Given the description of an element on the screen output the (x, y) to click on. 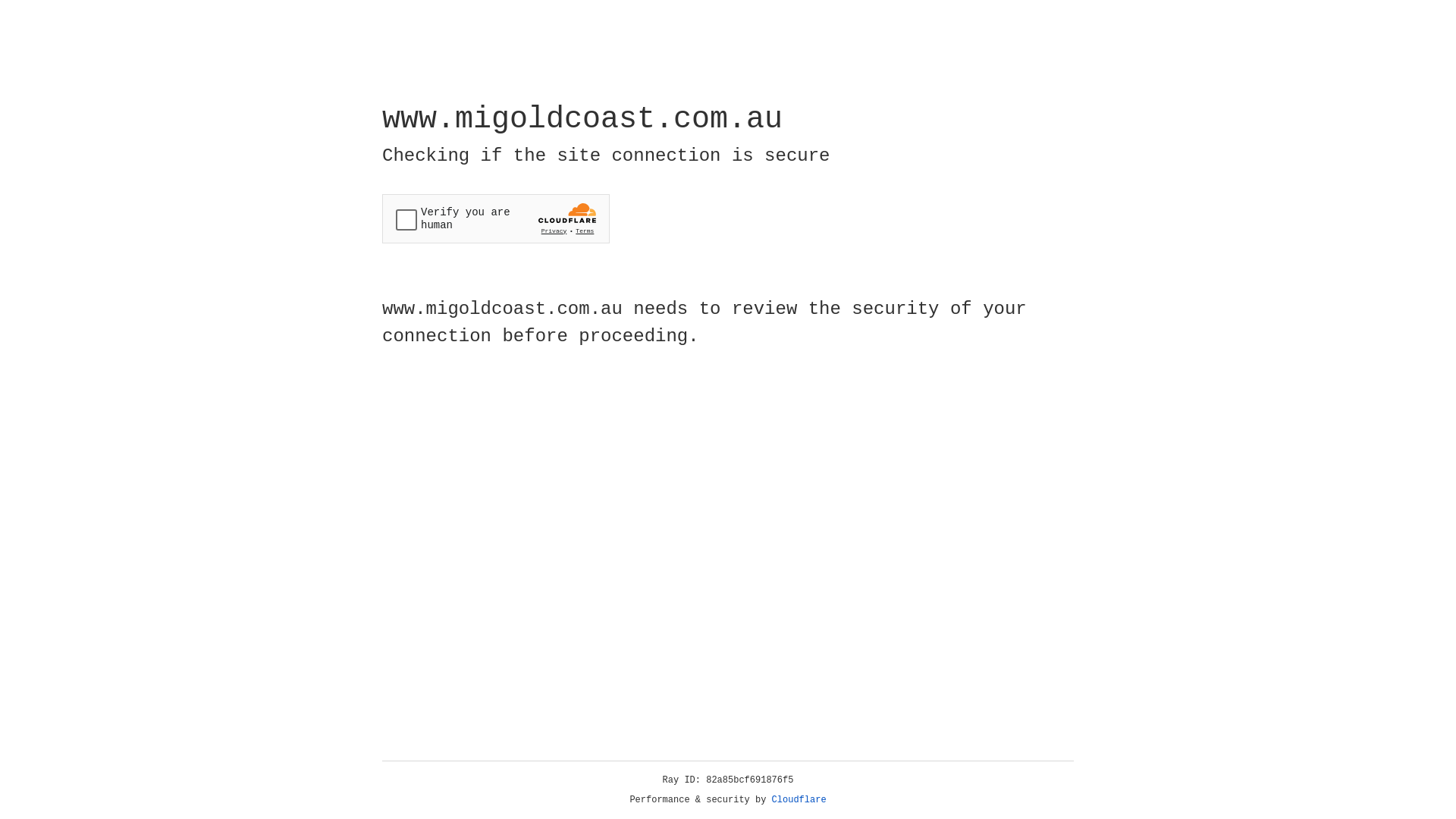
Widget containing a Cloudflare security challenge Element type: hover (495, 218)
Cloudflare Element type: text (798, 799)
